Given the description of an element on the screen output the (x, y) to click on. 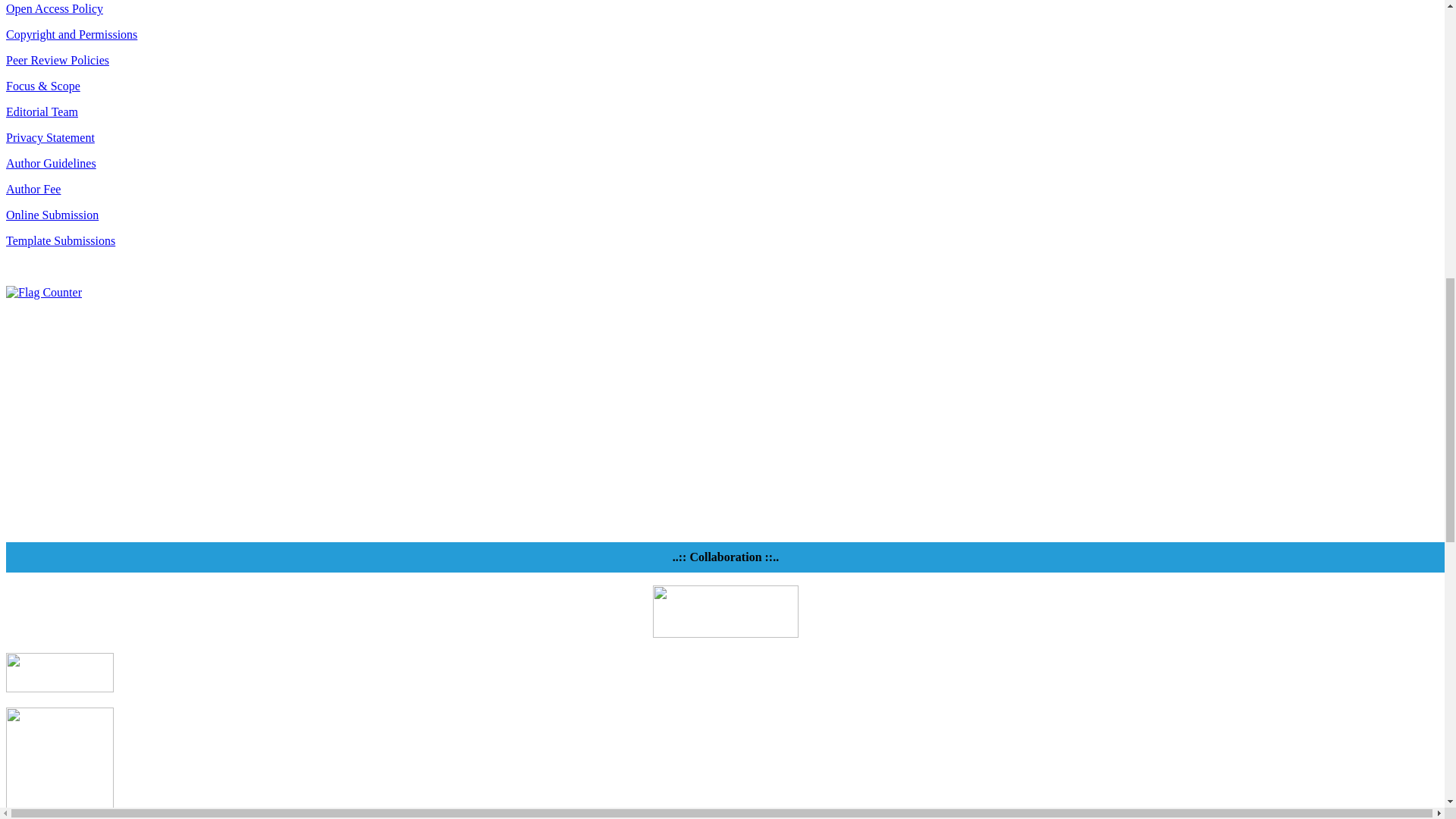
Author Fee (33, 188)
Peer Review Policies (57, 60)
Author Guidelines (50, 163)
Copyright and Permissions (70, 33)
Editorial Team (41, 111)
Open Access Policy (54, 8)
Privacy Statement (49, 137)
Online Submission (52, 214)
Template Submissions (60, 240)
